Given the description of an element on the screen output the (x, y) to click on. 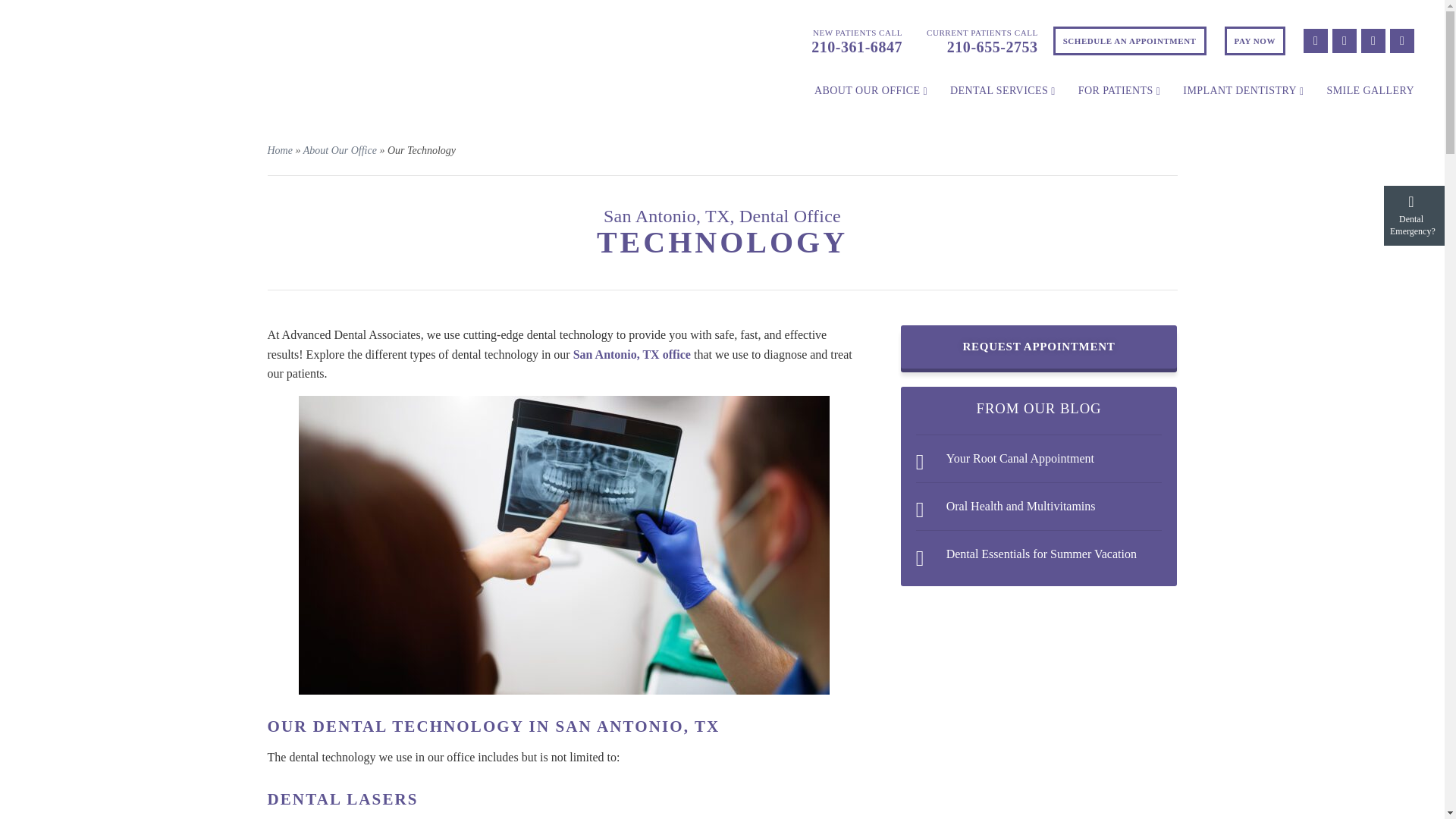
FOR PATIENTS (1119, 90)
PAY NOW (1254, 40)
ABOUT OUR OFFICE (870, 90)
SCHEDULE AN APPOINTMENT (1129, 40)
DENTAL SERVICES (1002, 90)
